Given the description of an element on the screen output the (x, y) to click on. 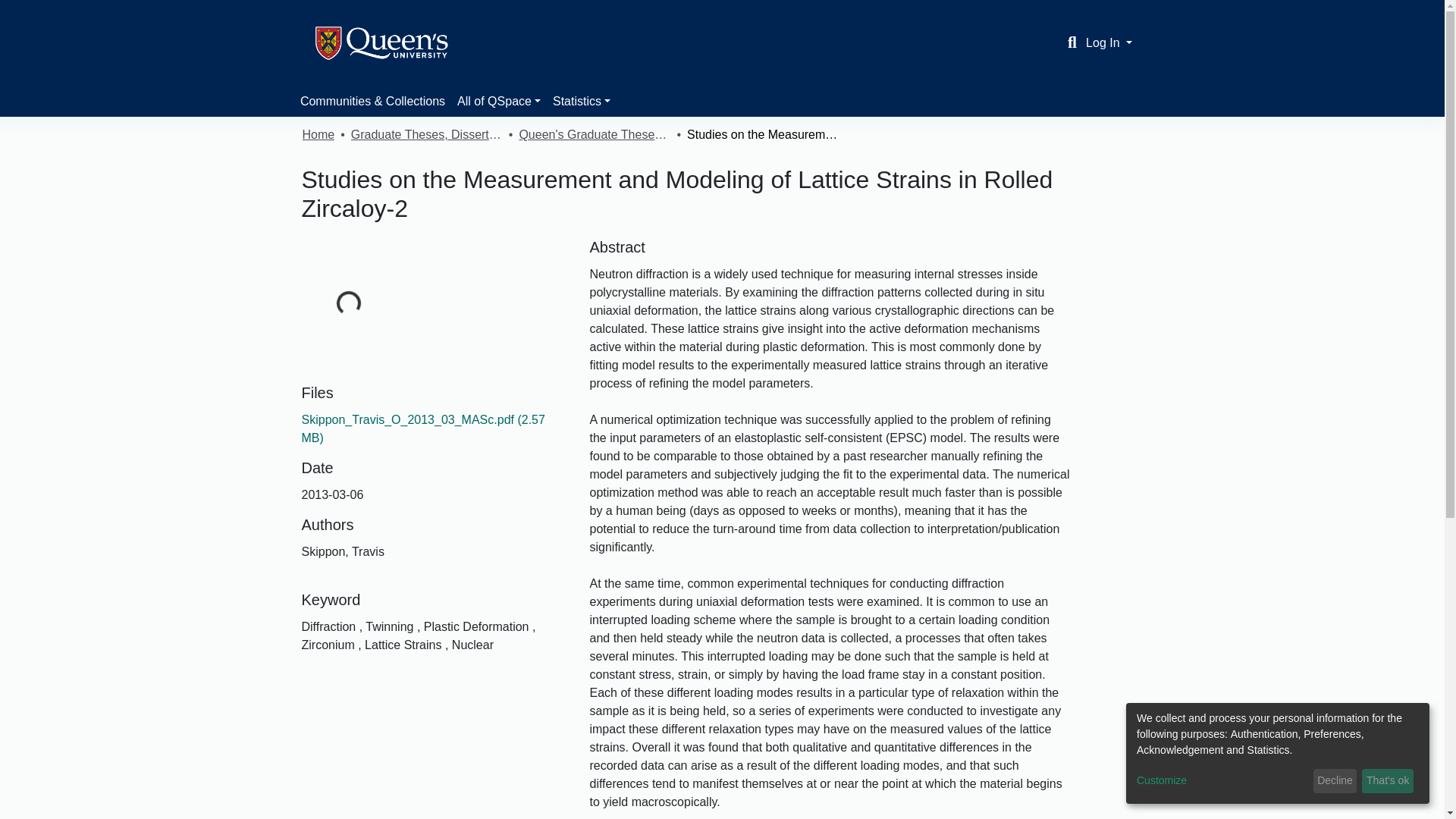
Log In (1108, 42)
Statistics (581, 101)
Graduate Theses, Dissertations and Projects (426, 135)
Decline (1334, 781)
Queen's Graduate Theses and Dissertations (593, 135)
Customize (1222, 780)
Home (317, 135)
All of QSpace (499, 101)
That's ok (1387, 781)
Search (1072, 43)
